Given the description of an element on the screen output the (x, y) to click on. 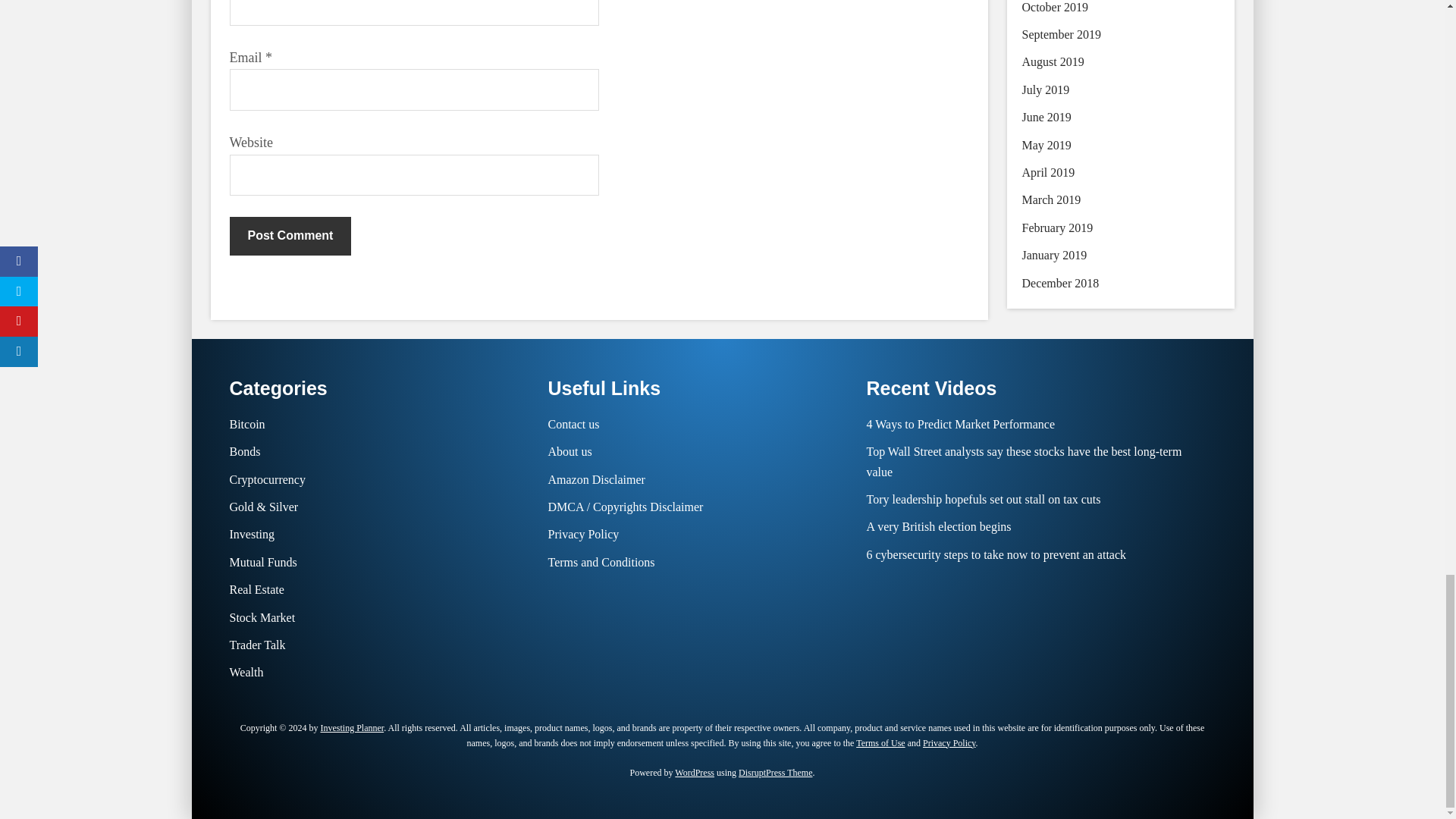
Post Comment (289, 235)
